Given the description of an element on the screen output the (x, y) to click on. 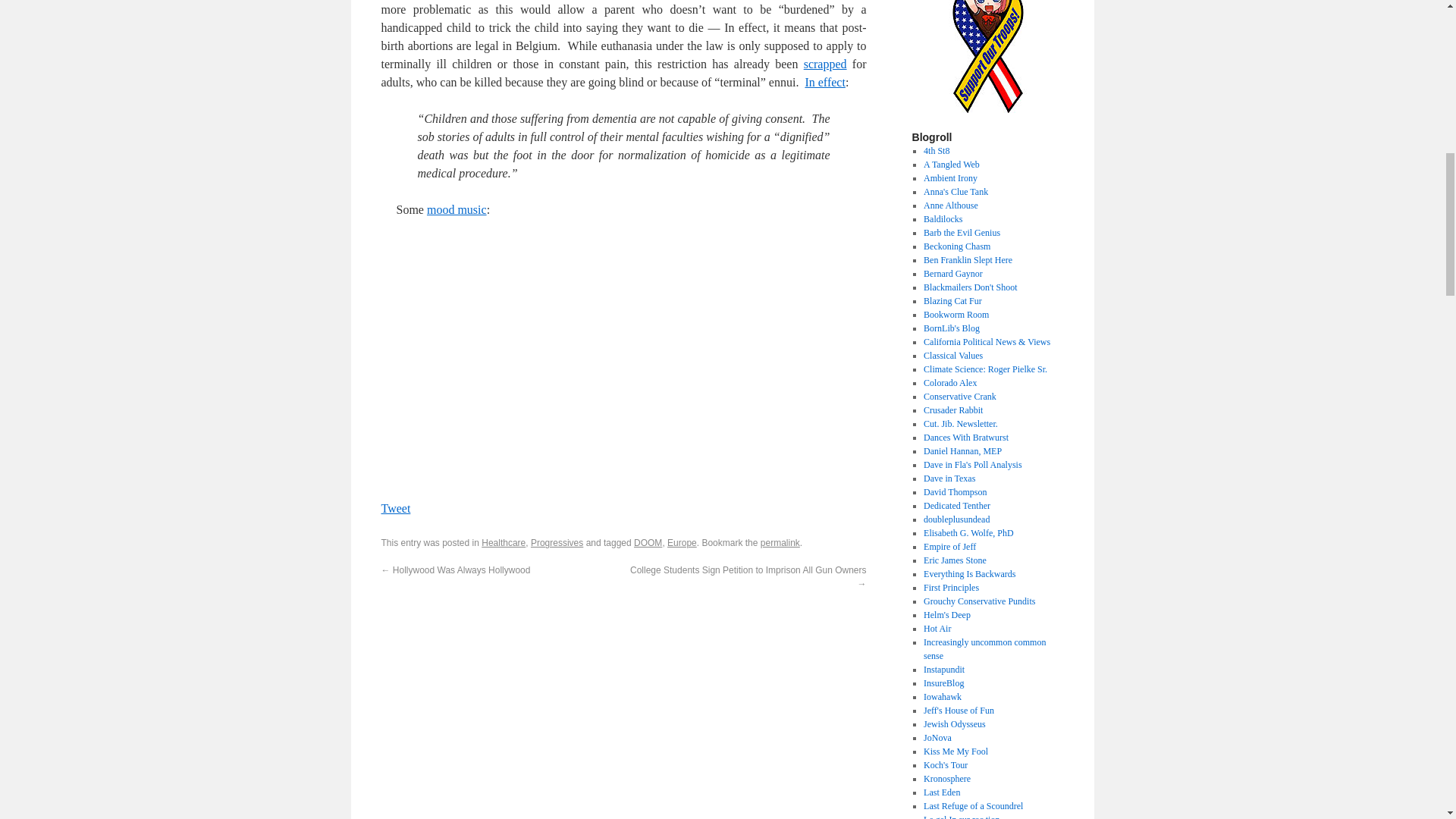
Healthcare (503, 542)
Belgium Kills Deaf and Blind Twins (825, 63)
DOOM (647, 542)
Permalink to Belgium Legalizes Child Killing (779, 542)
permalink (779, 542)
Tweet (395, 508)
scrapped (825, 63)
Ambient Irony (949, 177)
In effect (824, 82)
4th St8 (936, 150)
Europe (681, 542)
A Tangled Web (951, 163)
mood music (456, 209)
Belgium to Legalize the Killing of Children (824, 82)
